Given the description of an element on the screen output the (x, y) to click on. 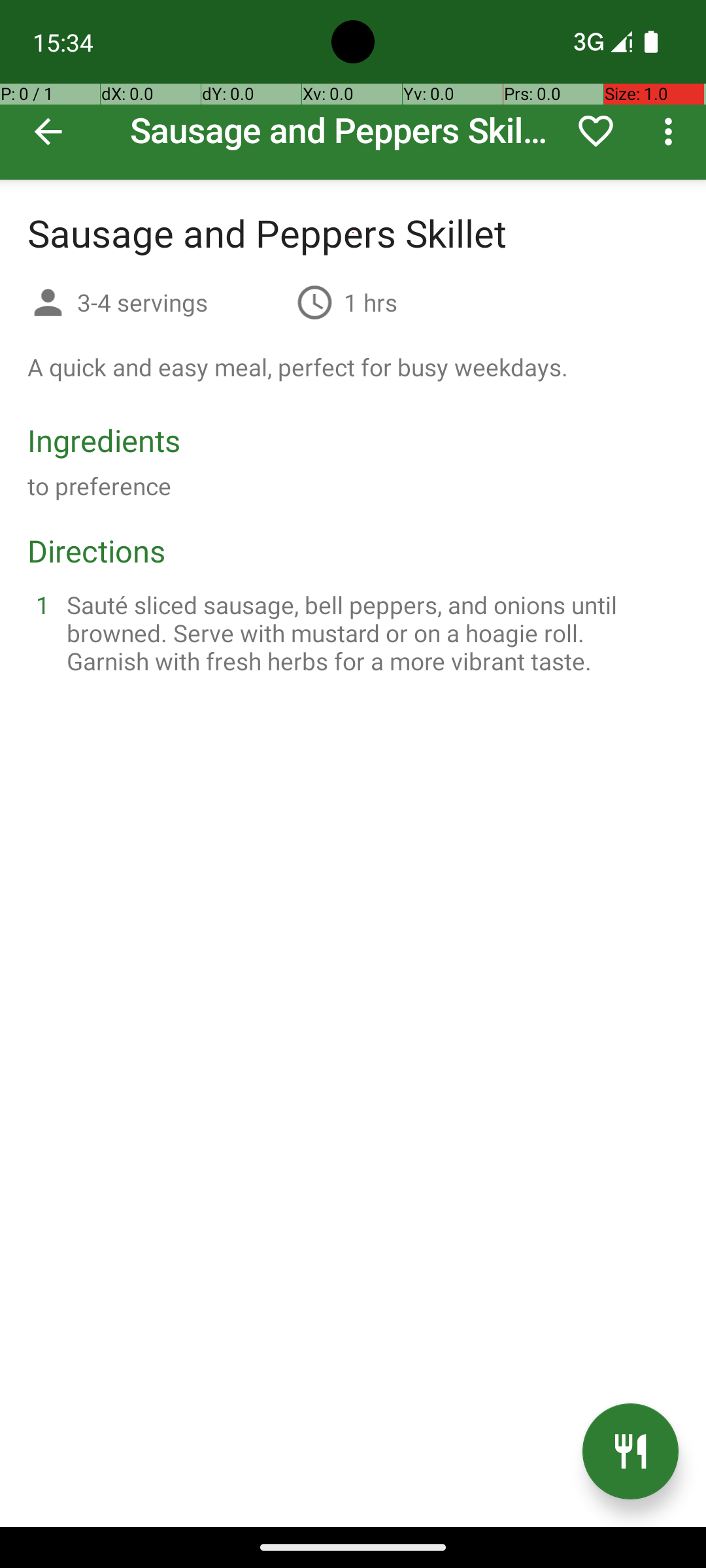
Sausage and Peppers Skillet Element type: android.widget.FrameLayout (353, 89)
3-4 servings Element type: android.widget.TextView (181, 301)
1 hrs Element type: android.widget.TextView (370, 301)
to preference Element type: android.widget.TextView (99, 485)
Sauté sliced sausage, bell peppers, and onions until browned. Serve with mustard or on a hoagie roll. Garnish with fresh herbs for a more vibrant taste. Element type: android.widget.TextView (368, 632)
